Given the description of an element on the screen output the (x, y) to click on. 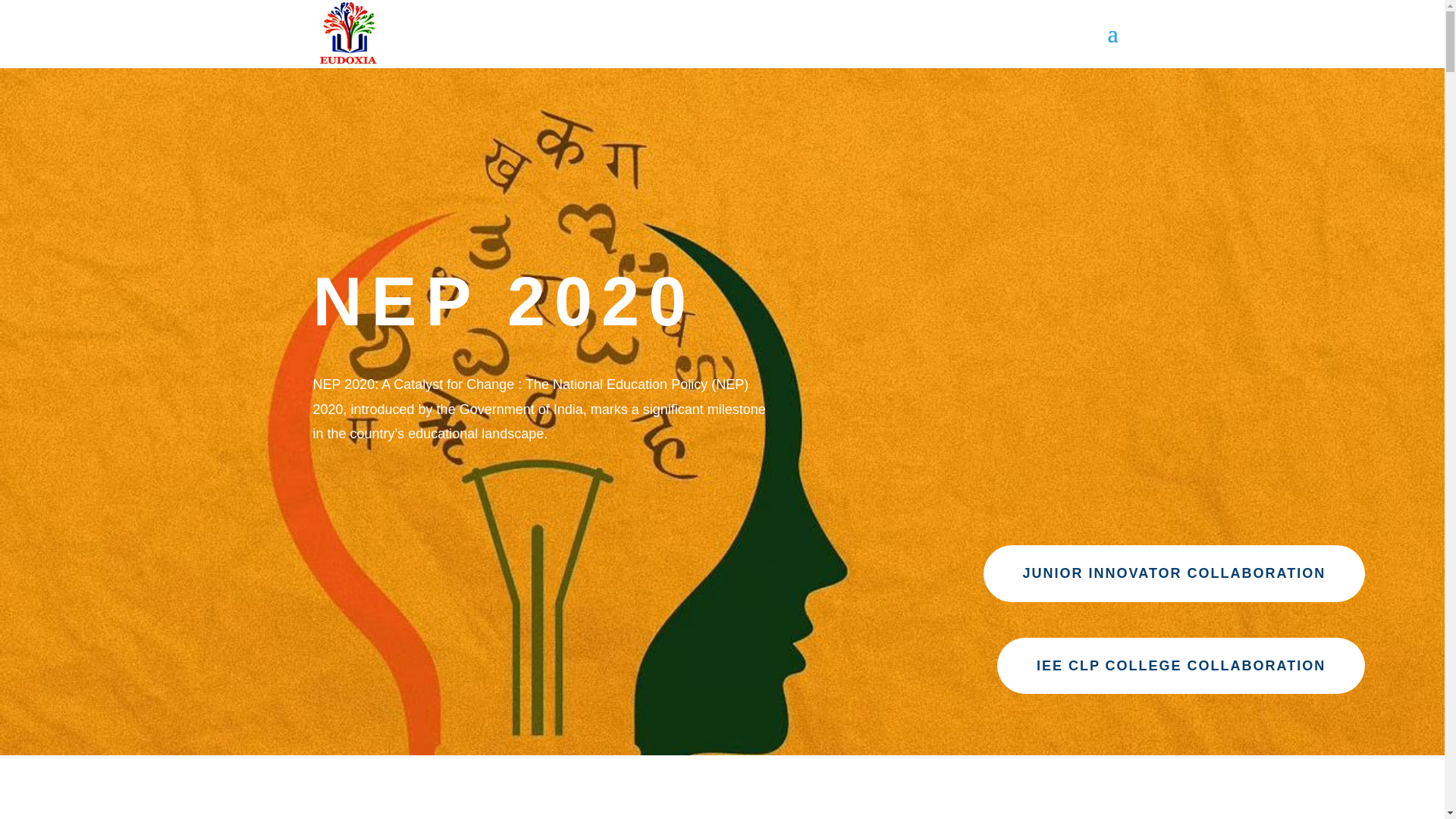
IEE CLP COLLEGE COLLABORATION (1181, 666)
JUNIOR INNOVATOR COLLABORATION (1174, 573)
